Given the description of an element on the screen output the (x, y) to click on. 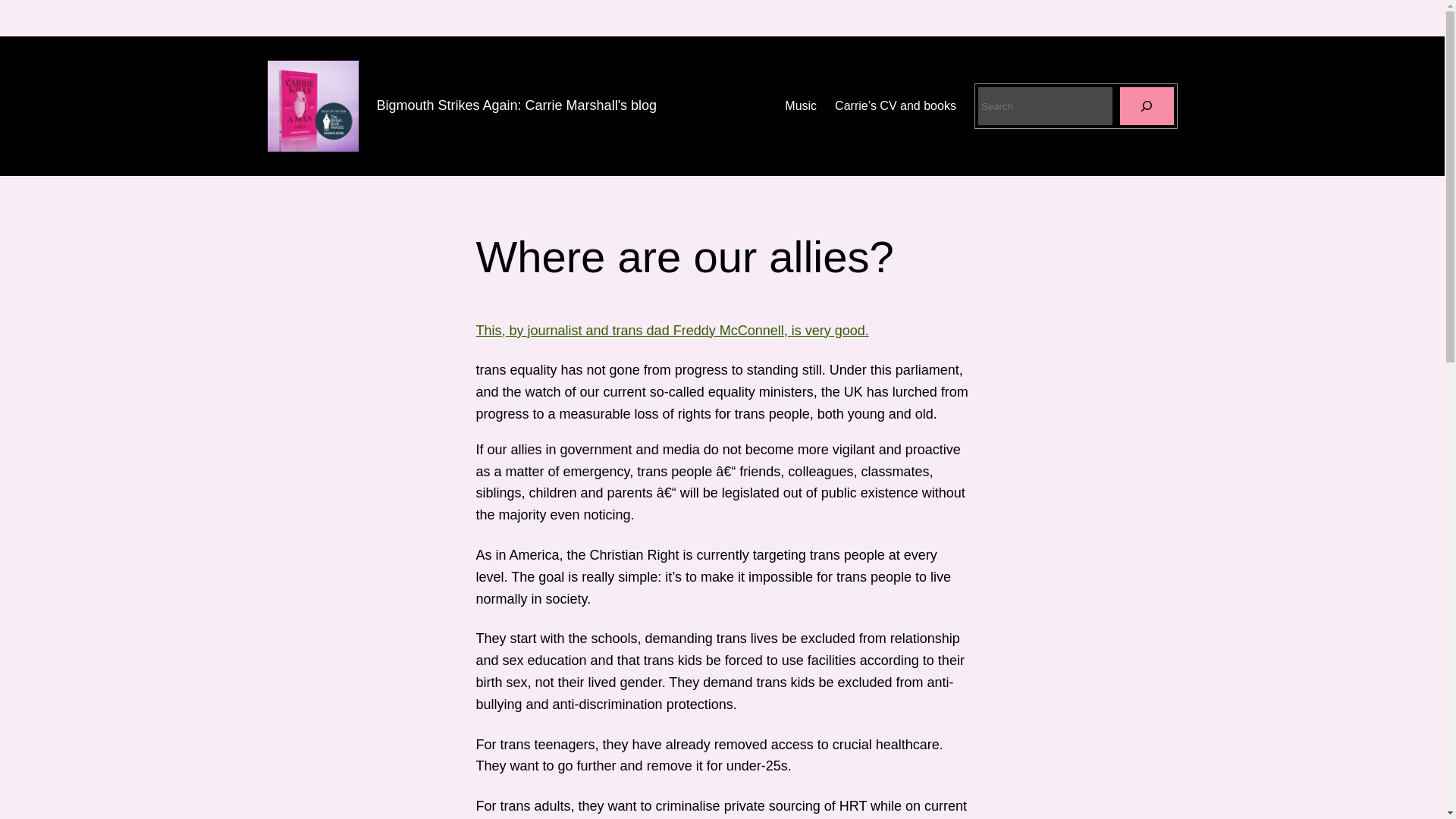
Bigmouth Strikes Again: Carrie Marshall's blog (515, 105)
Music (800, 106)
